Given the description of an element on the screen output the (x, y) to click on. 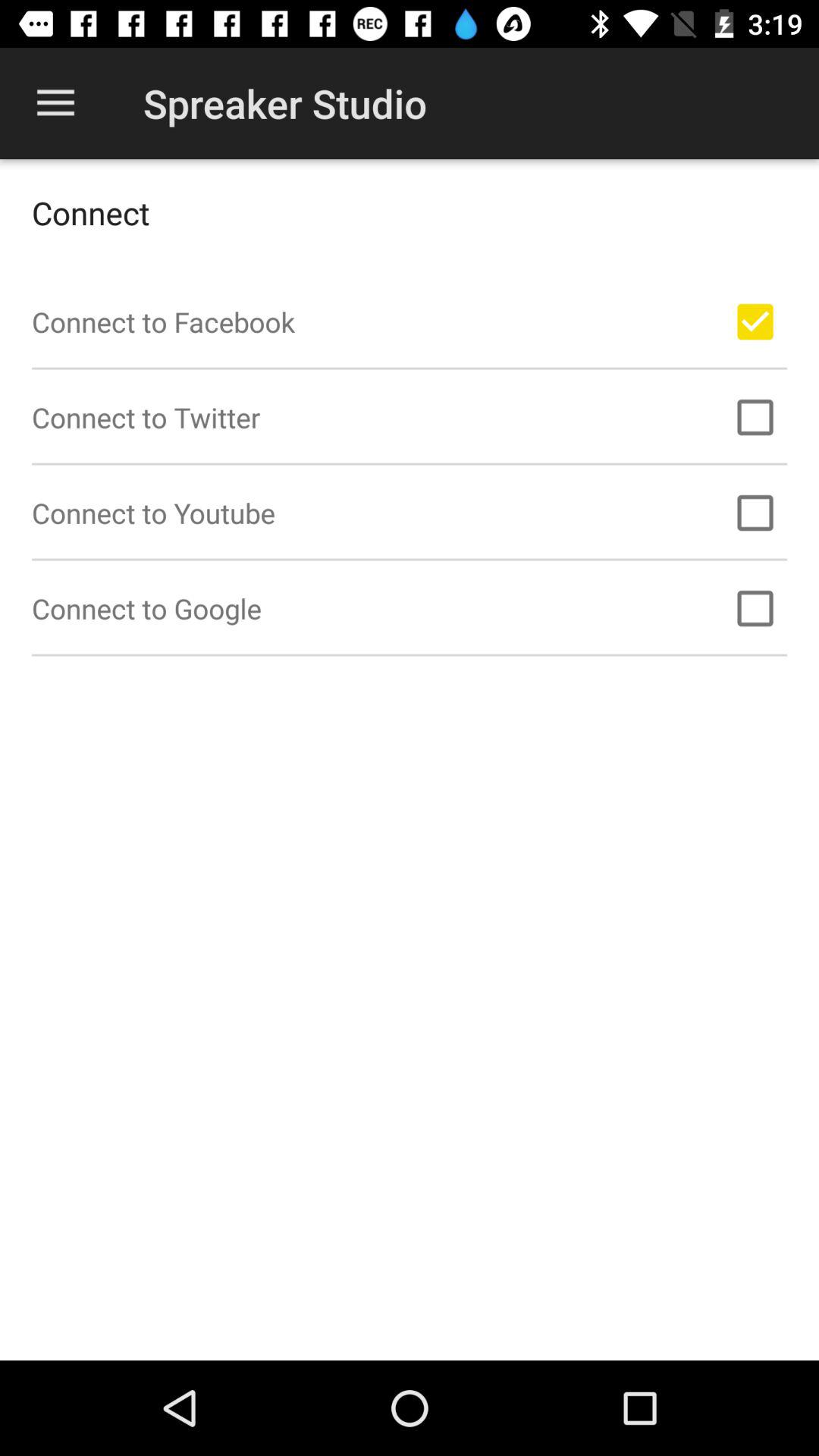
launch the icon above connect icon (55, 103)
